Given the description of an element on the screen output the (x, y) to click on. 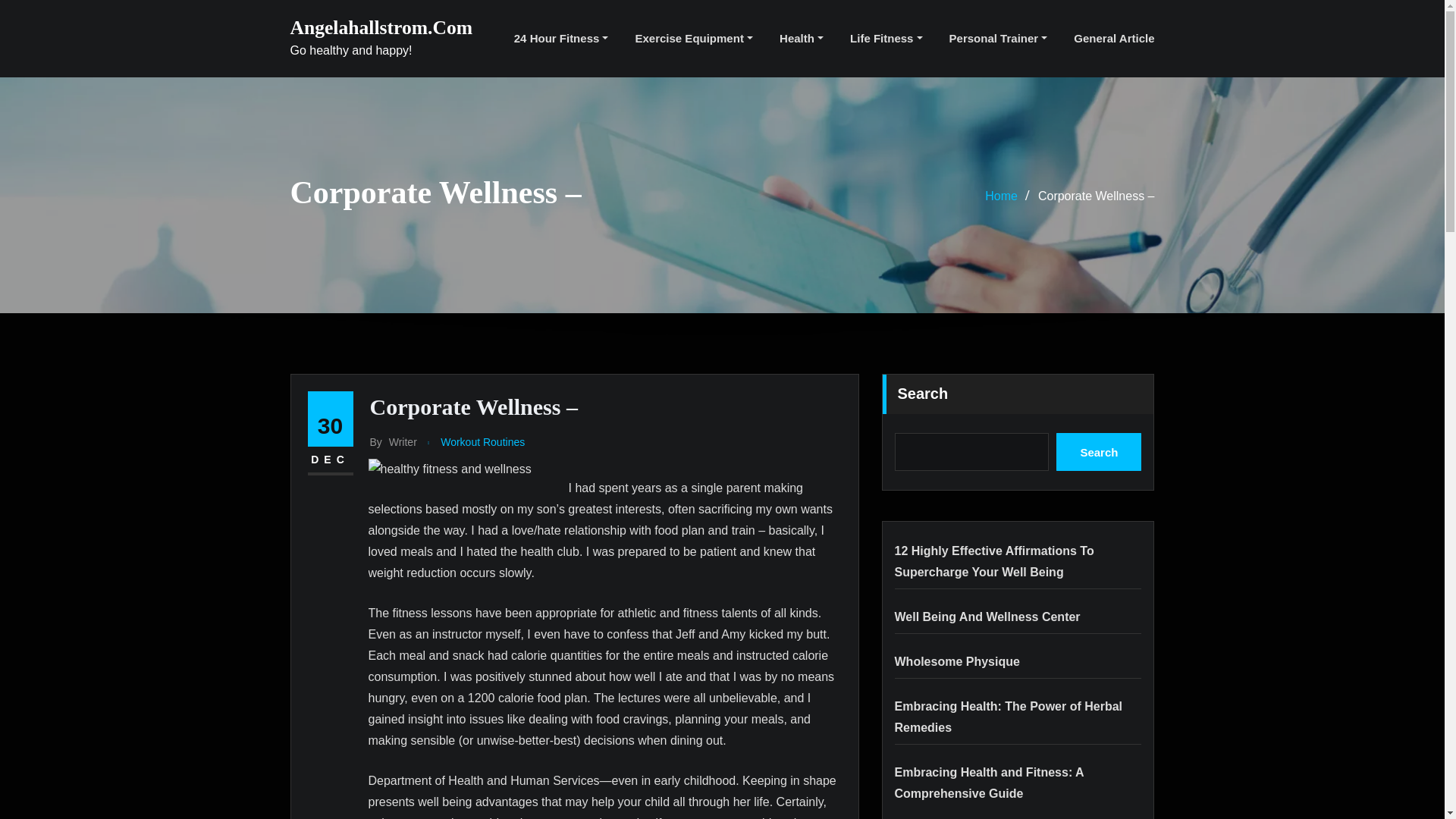
Home (1001, 195)
24 Hour Fitness (560, 38)
Personal Trainer (998, 38)
Embracing Health: The Power of Herbal Remedies (1008, 716)
Search (1099, 451)
Wholesome Physique (957, 661)
General Article (1114, 38)
Exercise Equipment (693, 38)
Workout Routines (482, 442)
By Writer (392, 442)
Angelahallstrom.Com (380, 27)
Health (801, 38)
Well Being And Wellness Center (987, 616)
Life Fitness (886, 38)
